Given the description of an element on the screen output the (x, y) to click on. 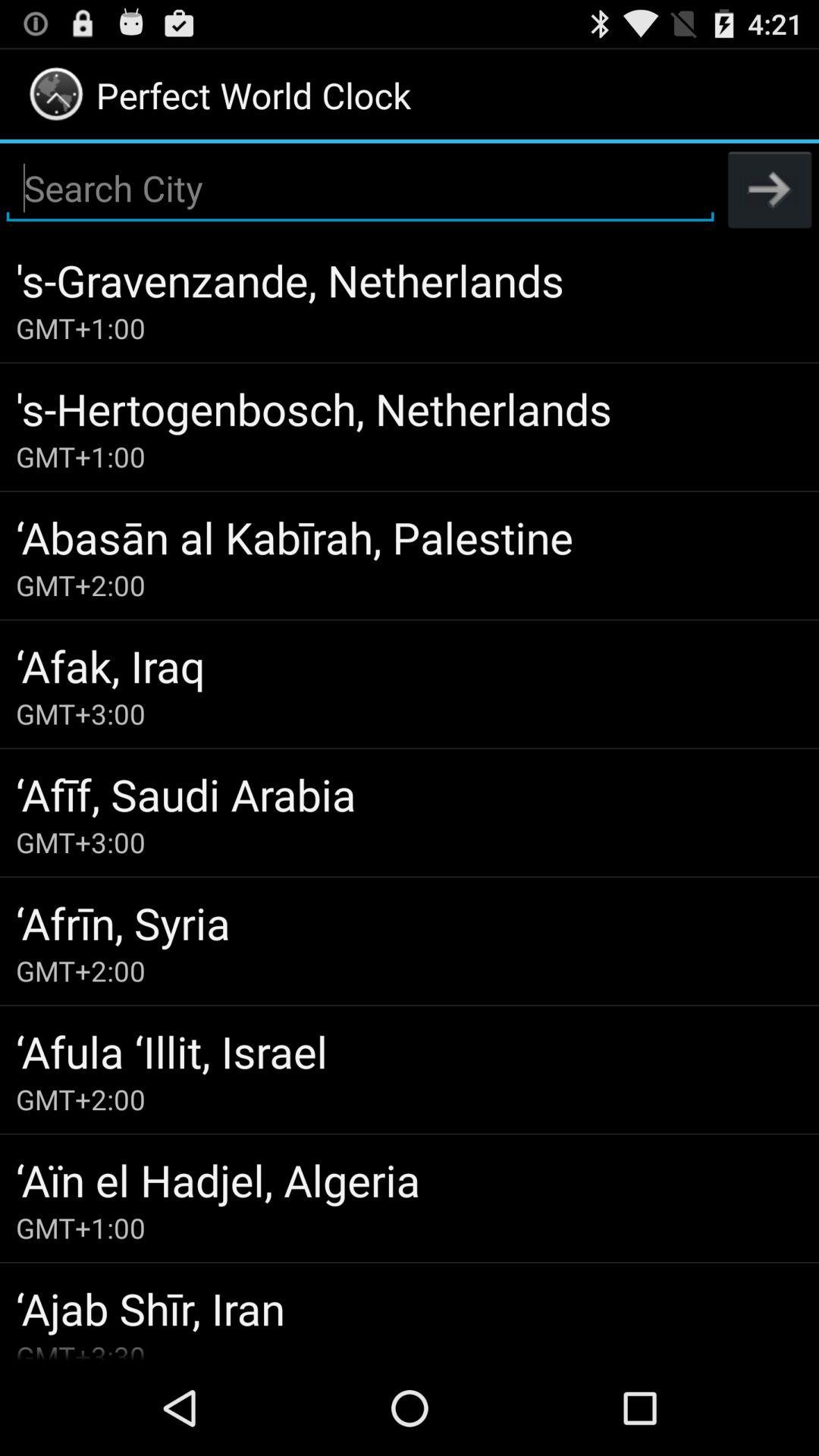
choose the icon at the top right corner (769, 188)
